Given the description of an element on the screen output the (x, y) to click on. 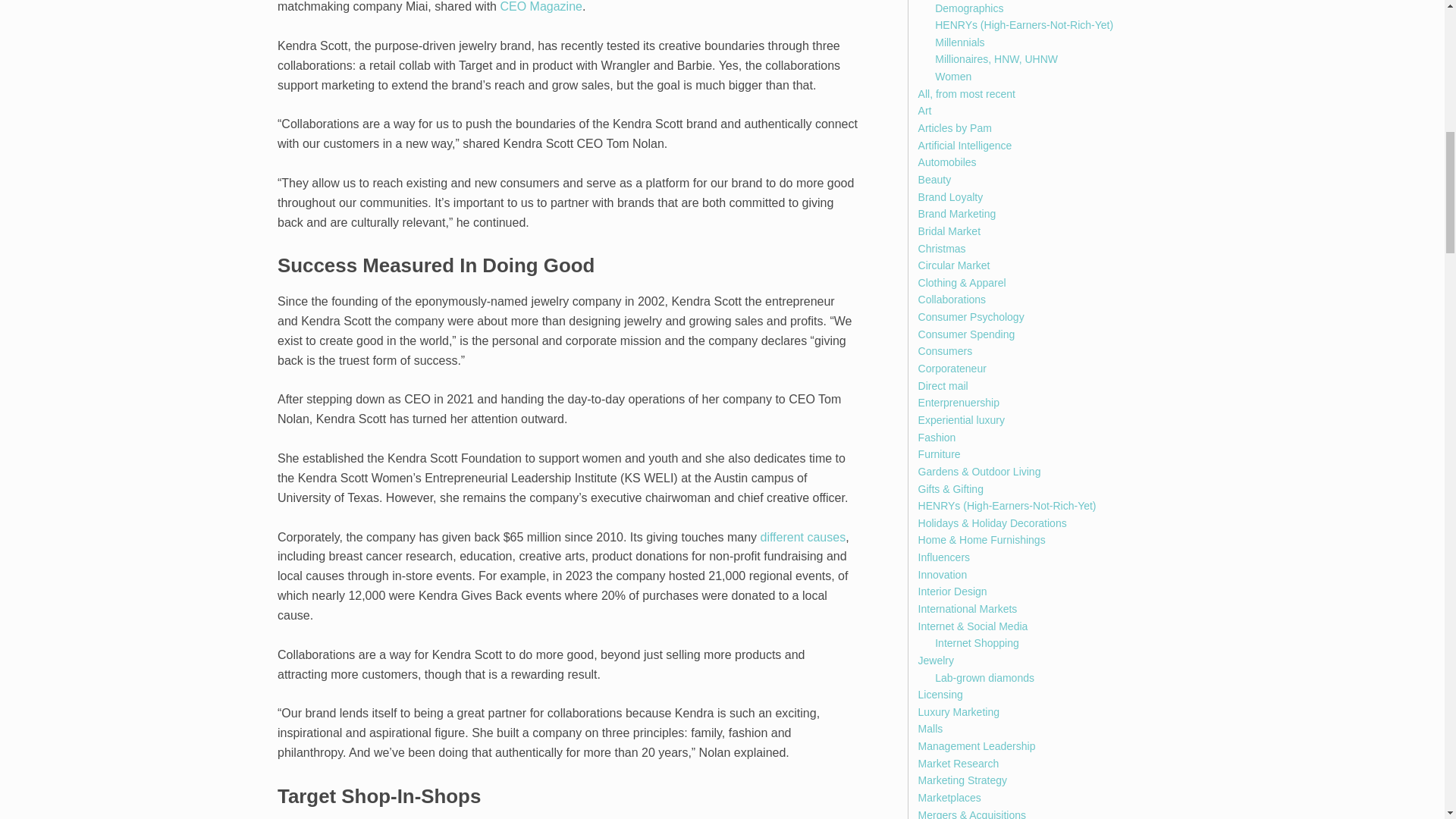
CEO Magazine (540, 6)
different causes (802, 536)
